Given the description of an element on the screen output the (x, y) to click on. 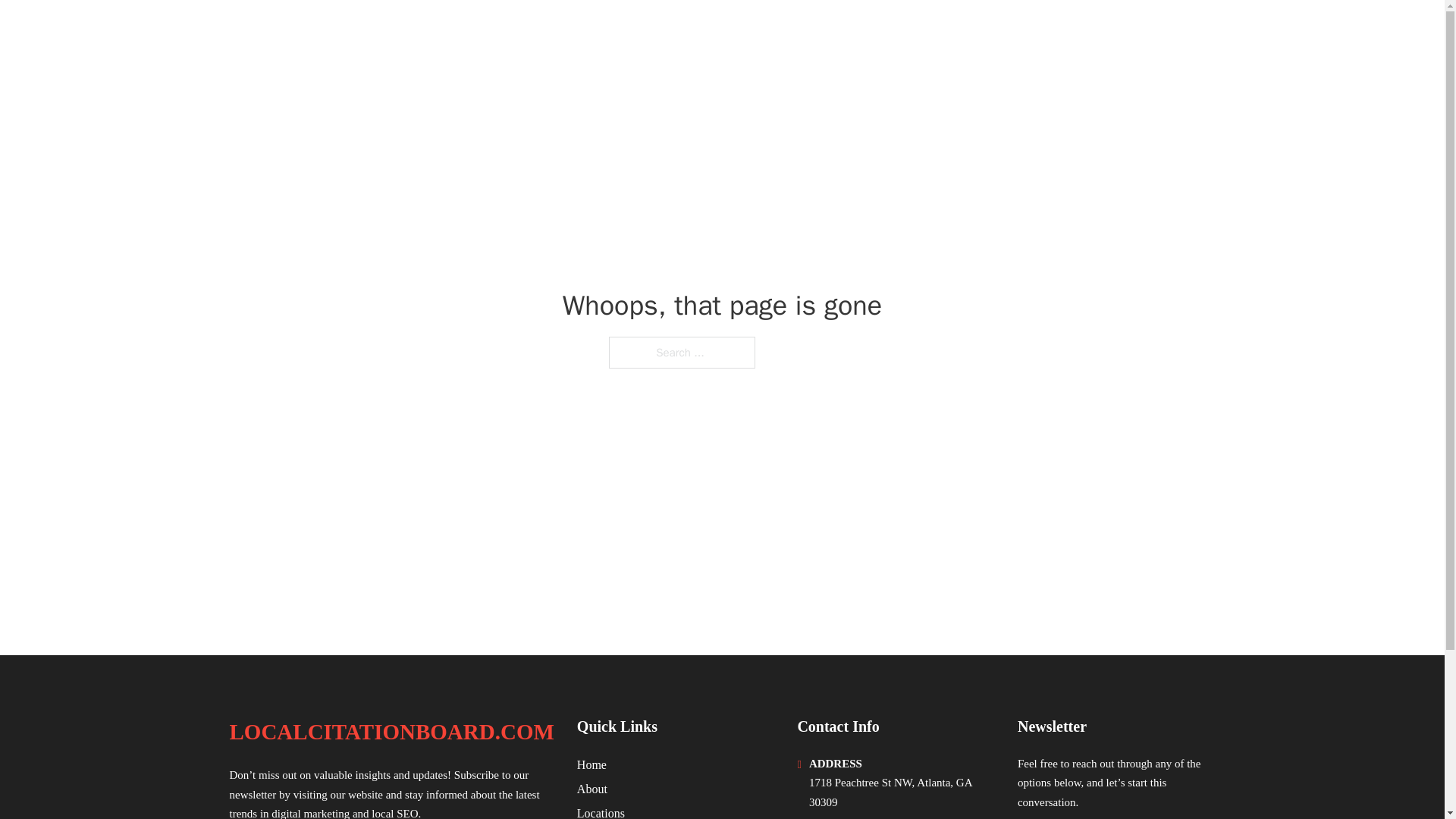
LOCALCITATIONBOARD.COM (408, 31)
Locations (600, 811)
LOCALCITATIONBOARD.COM (390, 732)
LOCATIONS (1098, 31)
Home (591, 764)
About (591, 788)
HOME (1025, 31)
